Given the description of an element on the screen output the (x, y) to click on. 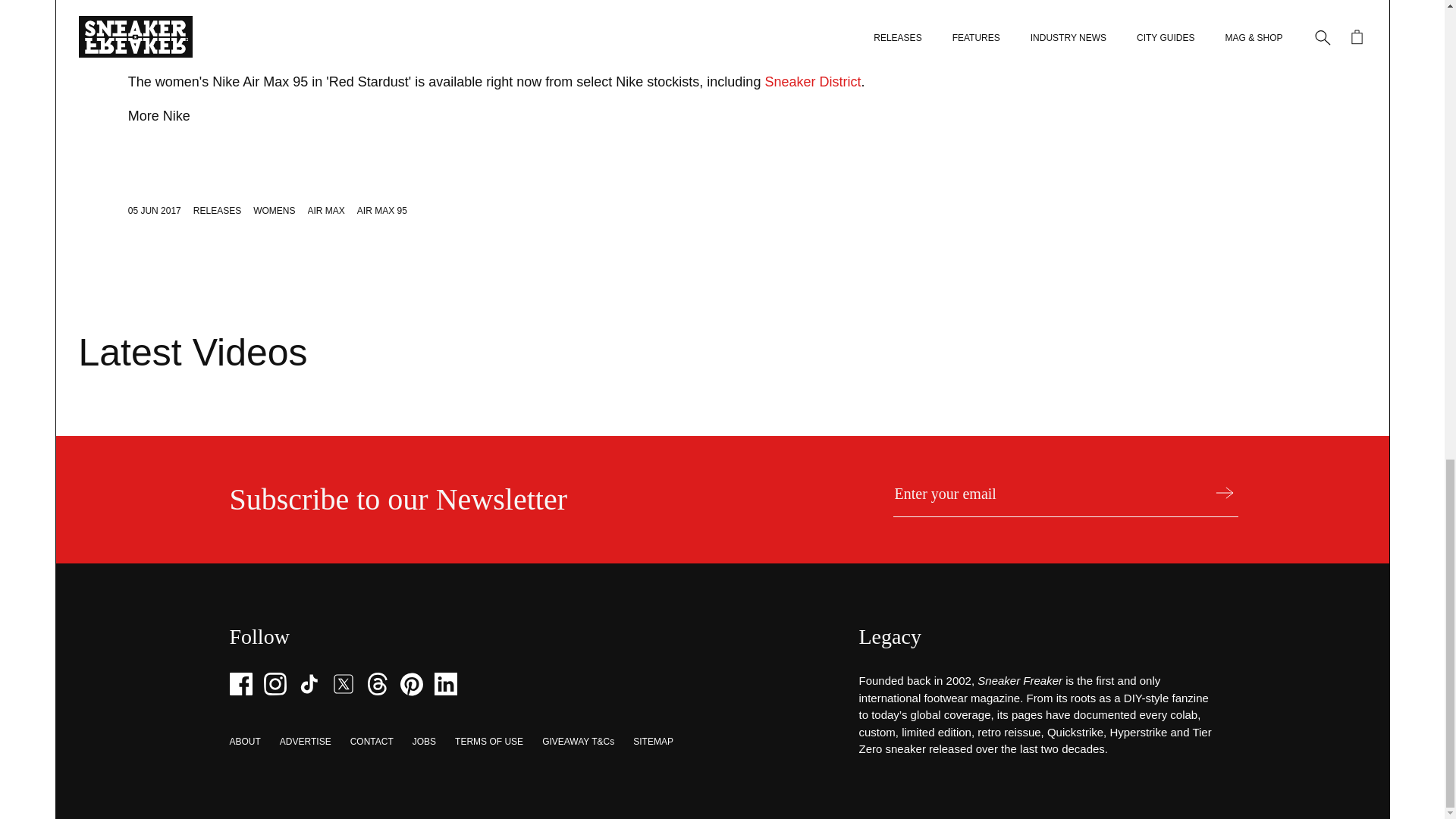
AIR MAX 95 (381, 210)
ADVERTISE (305, 741)
ABOUT (244, 741)
Sneaker District (812, 81)
JOBS (423, 741)
TERMS OF USE (488, 741)
SITEMAP (652, 741)
RELEASES (217, 210)
CONTACT (371, 741)
WOMENS (274, 210)
AIR MAX (326, 210)
